Given the description of an element on the screen output the (x, y) to click on. 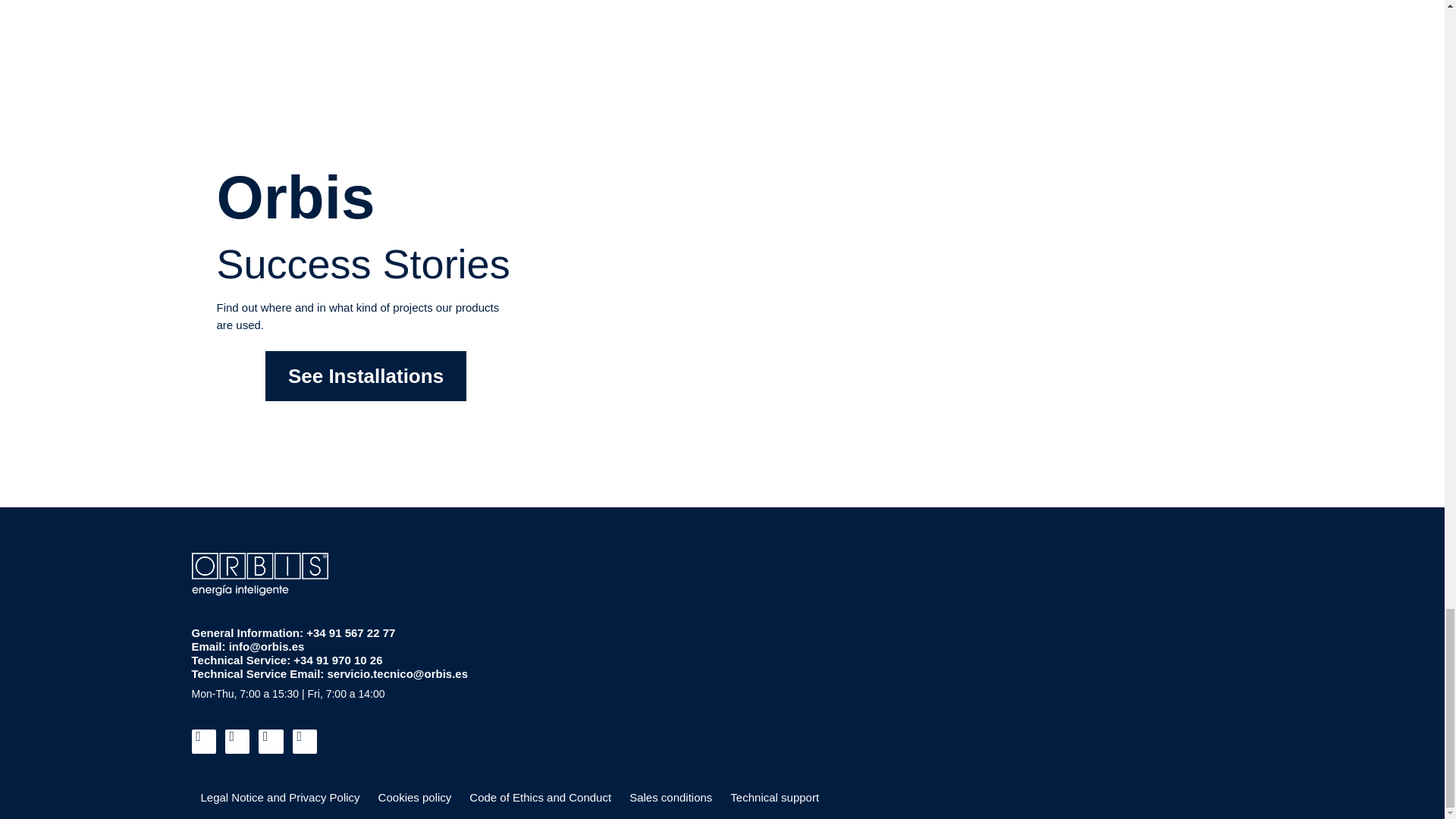
Code of Ethics and Conduct (540, 797)
Cookies policy (415, 797)
See Installations (365, 375)
Legal Notice and Privacy Policy (279, 797)
Technical support (774, 797)
Sales conditions (670, 797)
